Given the description of an element on the screen output the (x, y) to click on. 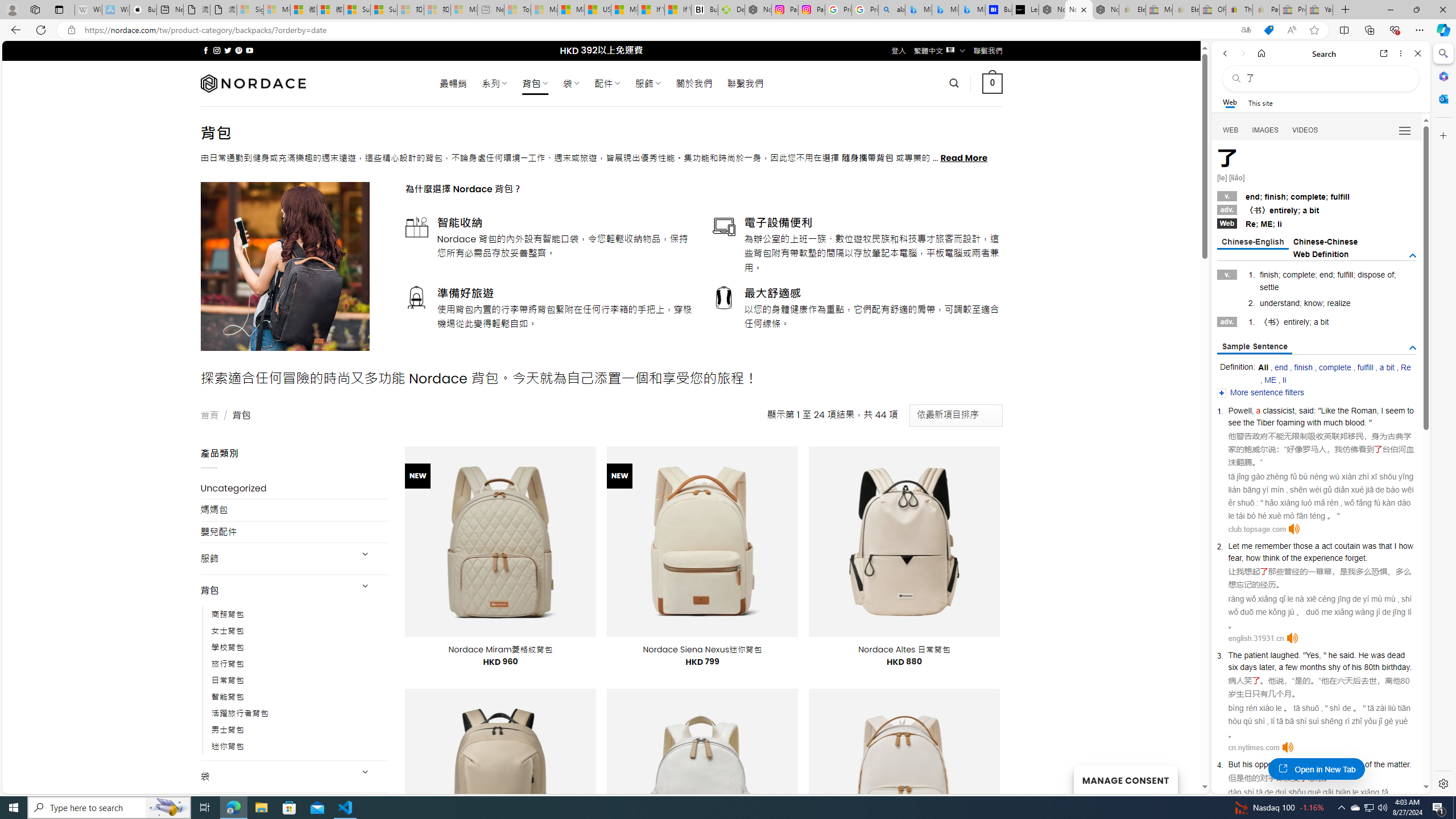
end (1281, 367)
Microsoft account | Account Checkup - Sleeping (463, 9)
his (1247, 764)
foaming (1290, 422)
